Given the description of an element on the screen output the (x, y) to click on. 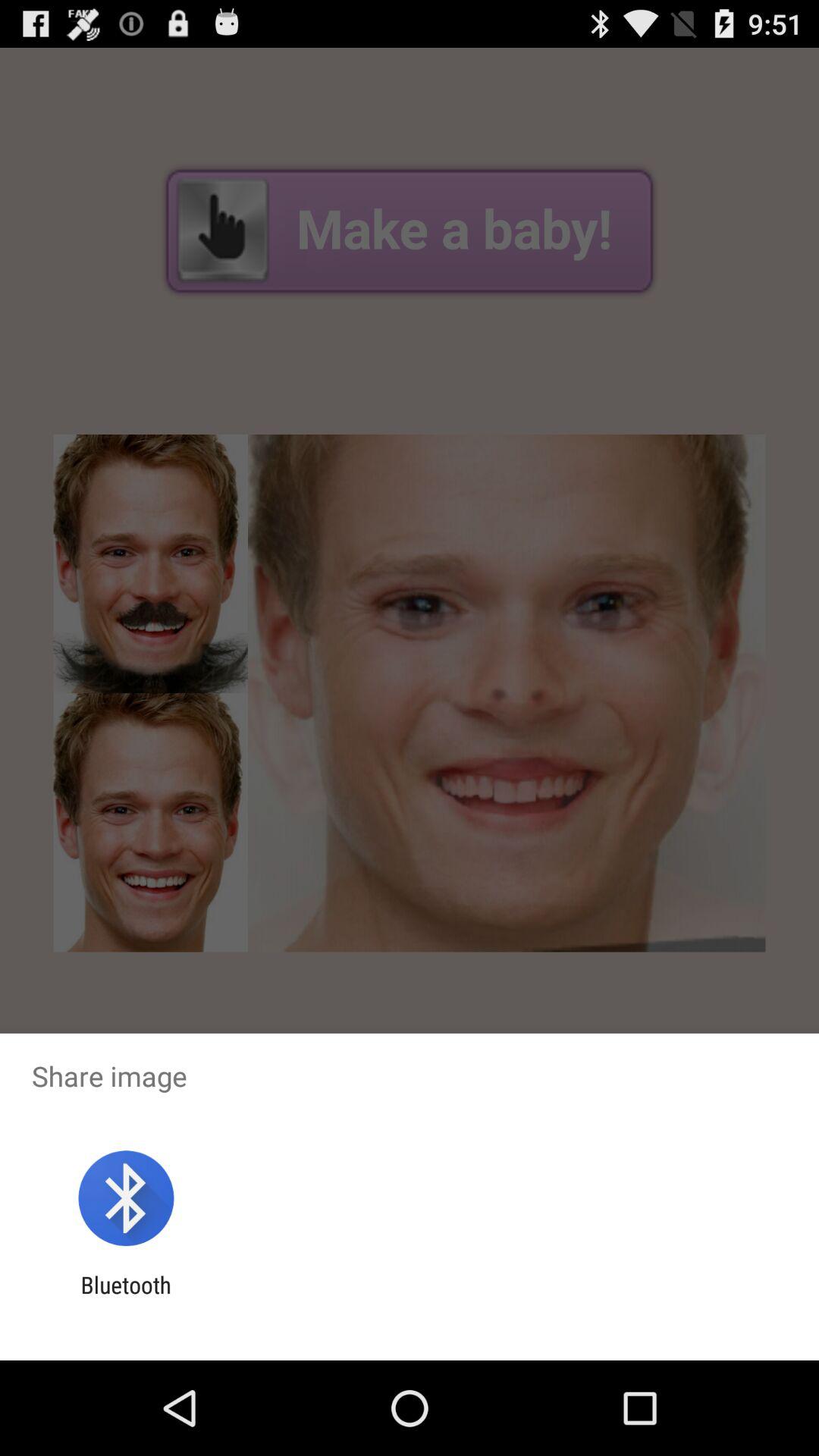
turn off the app below share image item (126, 1198)
